Given the description of an element on the screen output the (x, y) to click on. 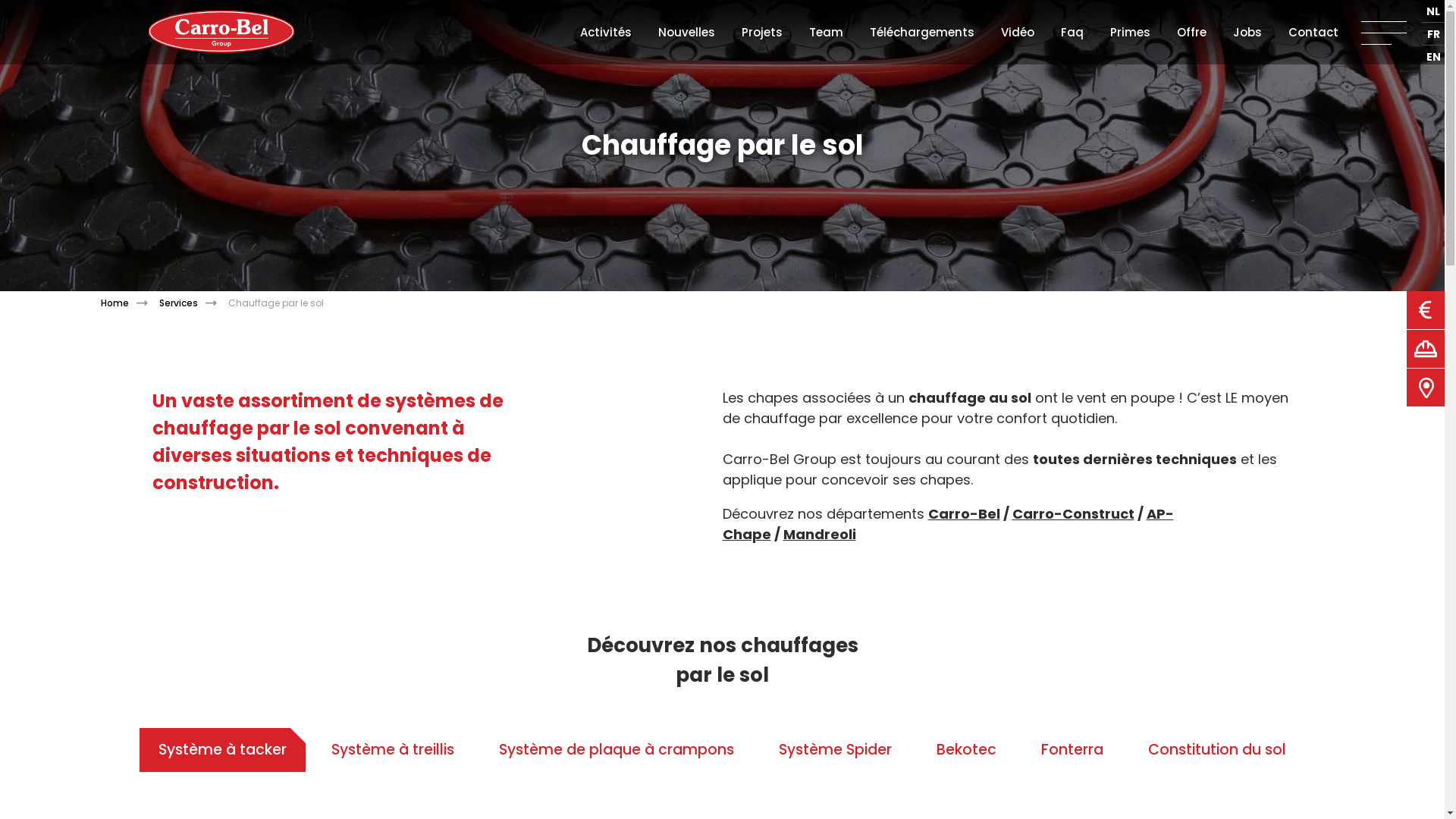
Constitution du sol Element type: text (1217, 749)
Carro-Construct Element type: text (1072, 513)
Team Element type: text (826, 32)
EN Element type: text (1432, 57)
Services Element type: text (193, 302)
Jobs Element type: text (1247, 32)
Home Element type: text (129, 302)
Carro-Bel Element type: text (964, 513)
FR Element type: text (1432, 34)
Mandreoli Element type: text (818, 533)
Fonterra Element type: text (1072, 749)
Offre Element type: text (1191, 32)
Contact Element type: text (1313, 32)
Primes Element type: text (1130, 32)
Bekotec Element type: text (966, 749)
Projets Element type: text (761, 32)
NL Element type: text (1432, 11)
Apply Element type: text (32, 12)
Skip to main content Element type: text (70, 0)
AP-Chape Element type: text (947, 523)
Nouvelles Element type: text (686, 32)
Faq Element type: text (1071, 32)
